Given the description of an element on the screen output the (x, y) to click on. 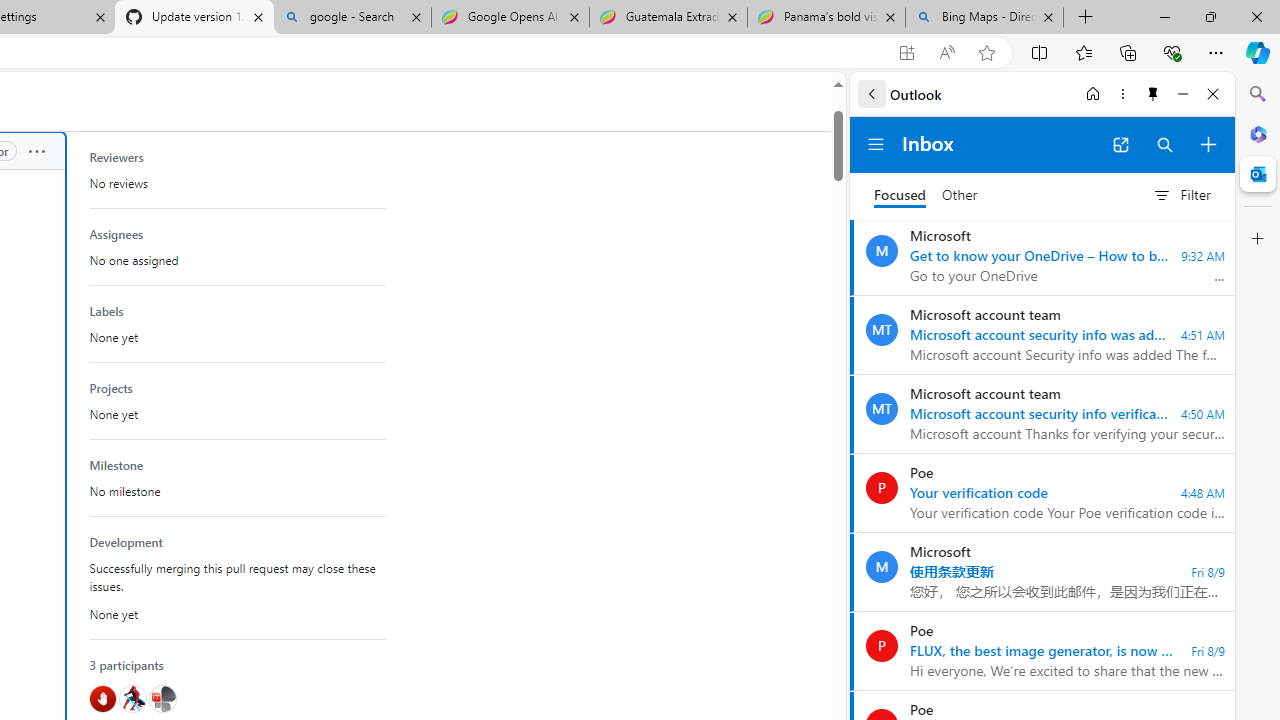
@blocker999 (102, 699)
Open in new tab (1120, 144)
App available. Install GitHub (906, 53)
Compose new mail (1208, 144)
@MajkiIT (162, 699)
